Given the description of an element on the screen output the (x, y) to click on. 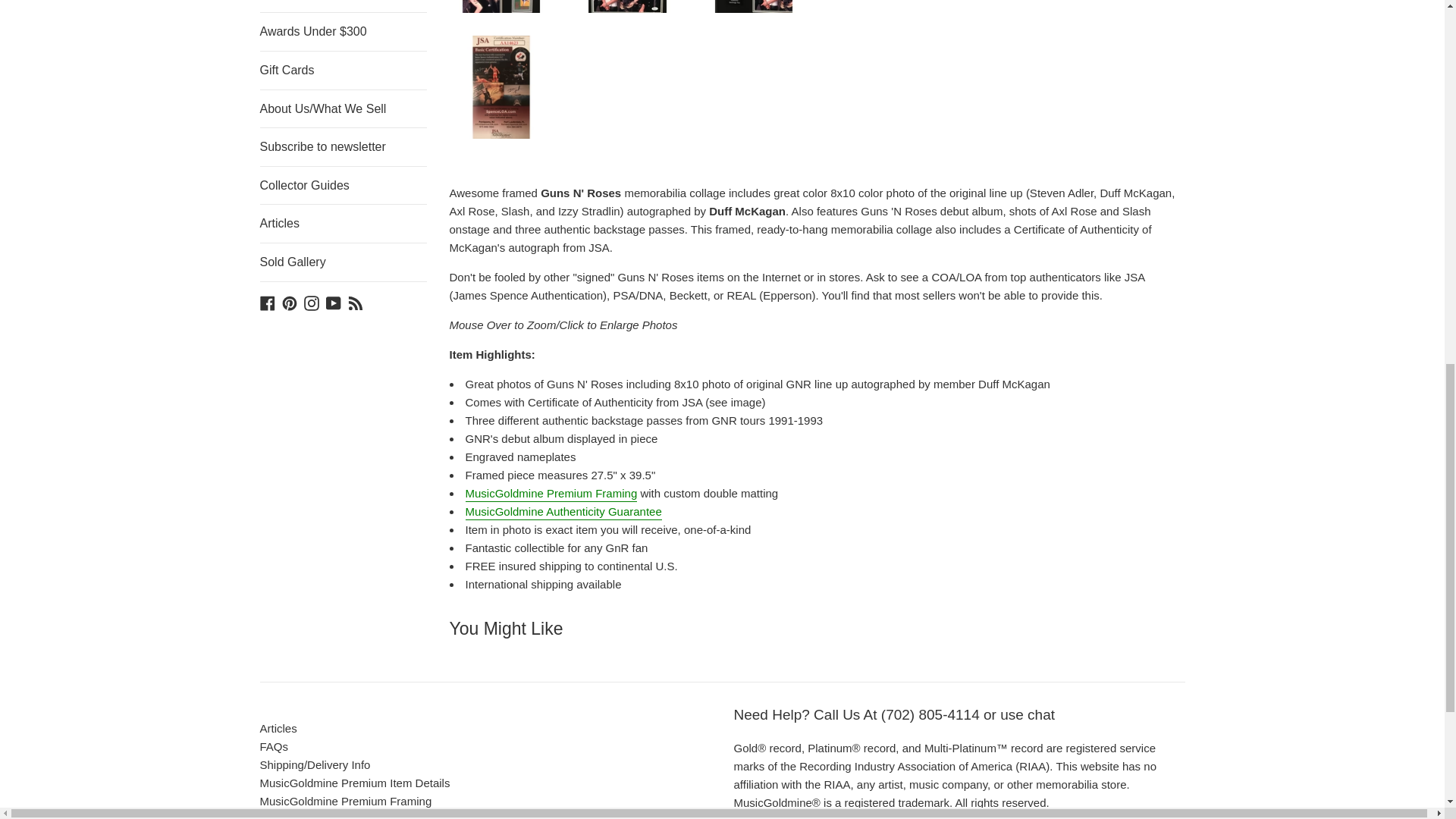
Sold Gallery (342, 262)
Articles (342, 223)
Pinterest (289, 301)
Subscribe to newsletter (342, 146)
MusicGoldmine.com on Pinterest (289, 301)
MusicGoldmine.com on YouTube (333, 301)
Collector Guides (342, 185)
Gift Cards (342, 70)
YouTube (333, 301)
Facebook (267, 301)
Instagram (311, 301)
MusicGoldmine.com on Facebook (267, 301)
MusicGoldmine.com on Instagram (311, 301)
